Given the description of an element on the screen output the (x, y) to click on. 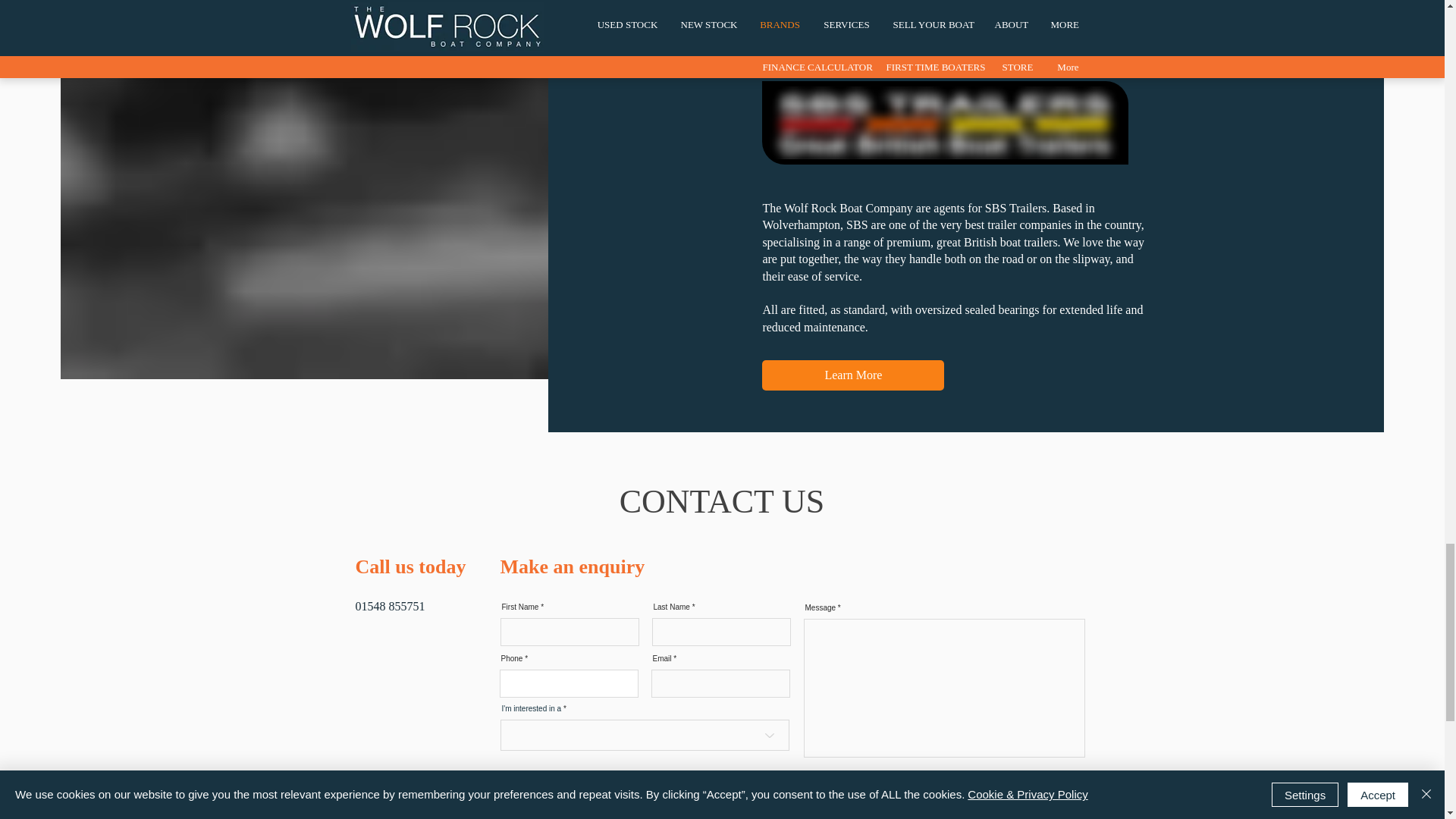
Learn More (852, 375)
